Given the description of an element on the screen output the (x, y) to click on. 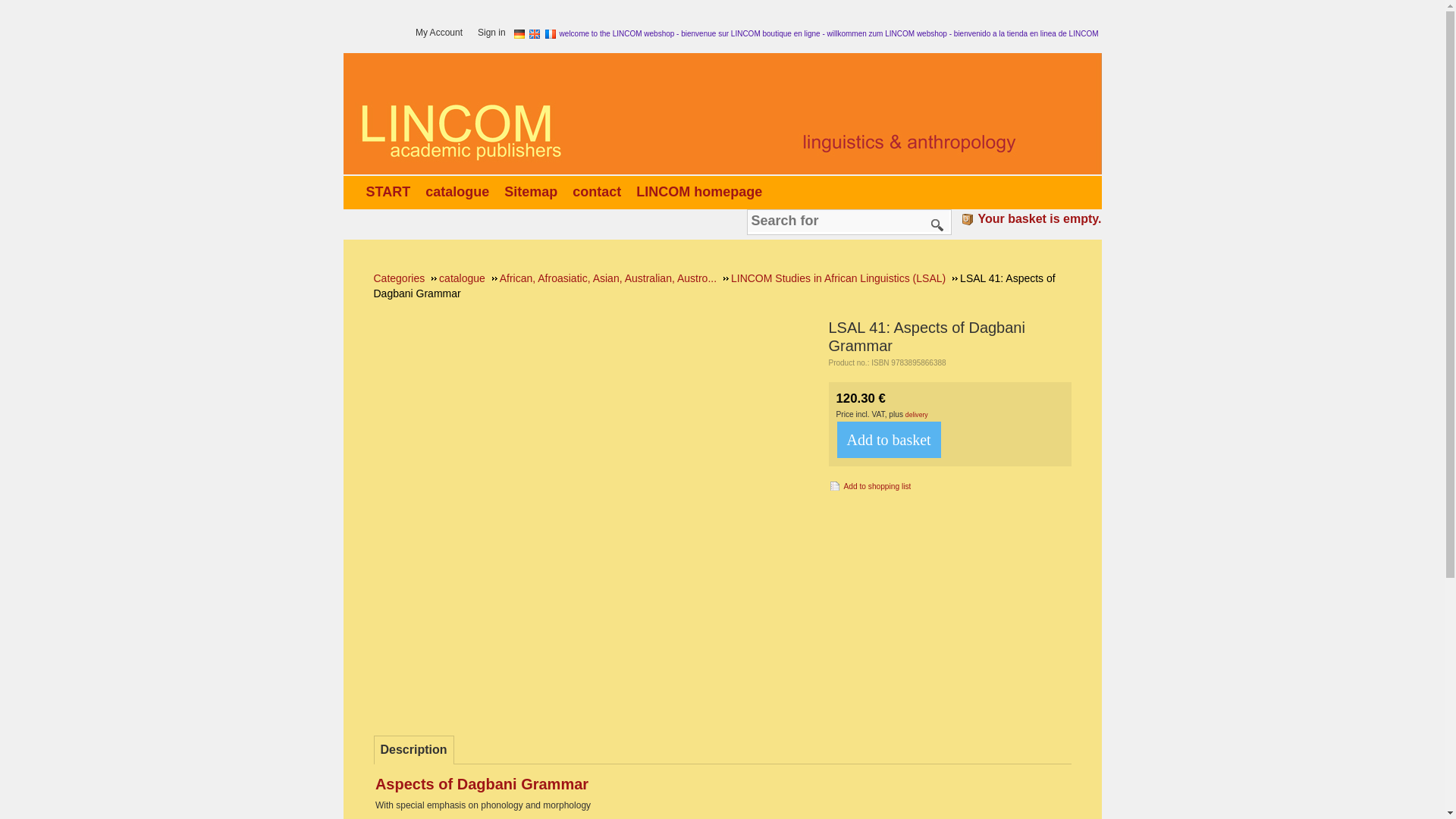
Start search (937, 225)
Sign in (495, 32)
catalogue (460, 190)
START (391, 190)
Add to shopping list (869, 484)
My Account (442, 32)
